Given the description of an element on the screen output the (x, y) to click on. 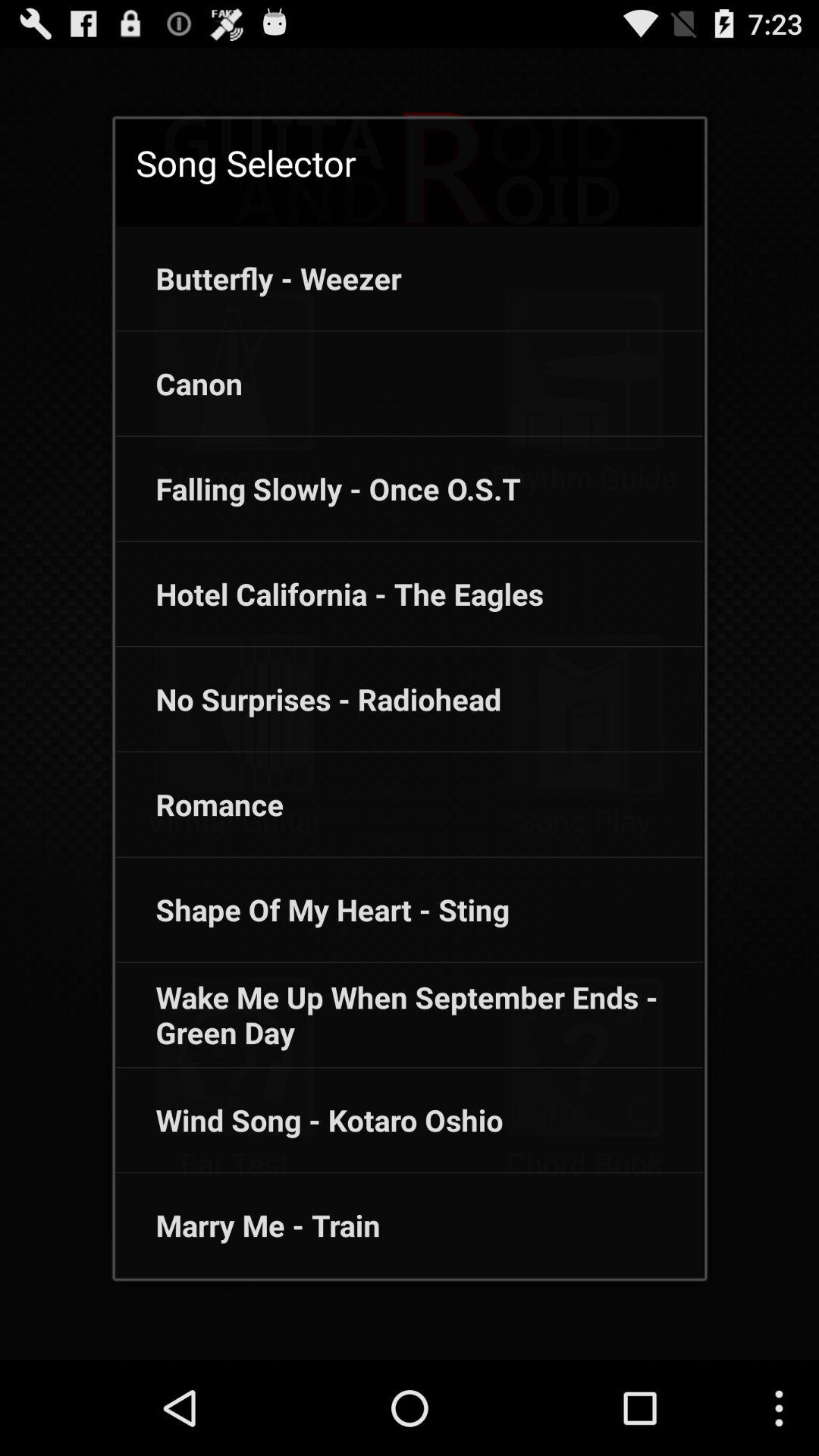
launch app above hotel california the icon (318, 488)
